Given the description of an element on the screen output the (x, y) to click on. 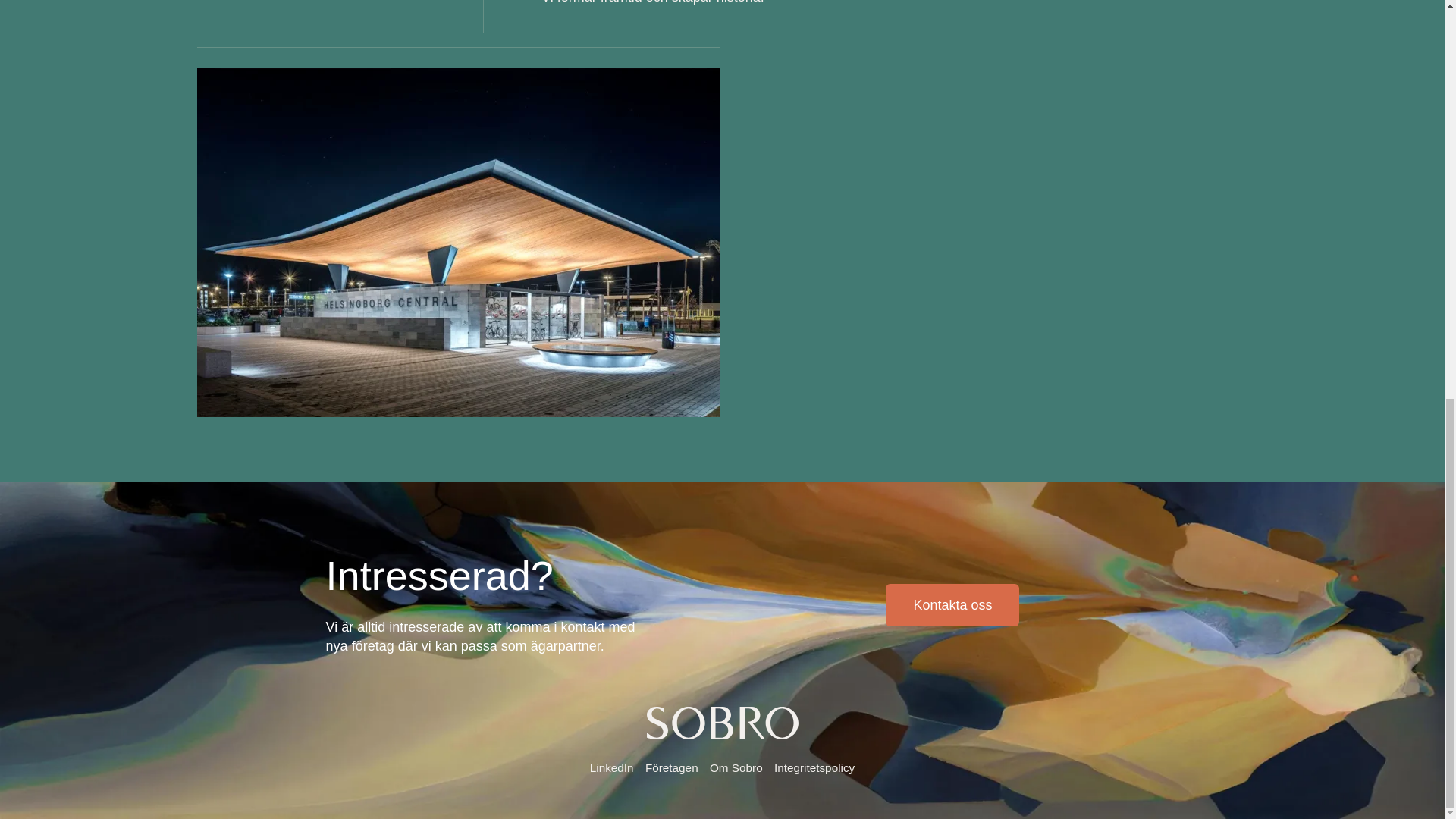
Om Sobro (736, 767)
Integritetspolicy (814, 767)
LinkedIn (611, 767)
Kontakta oss (952, 604)
